Given the description of an element on the screen output the (x, y) to click on. 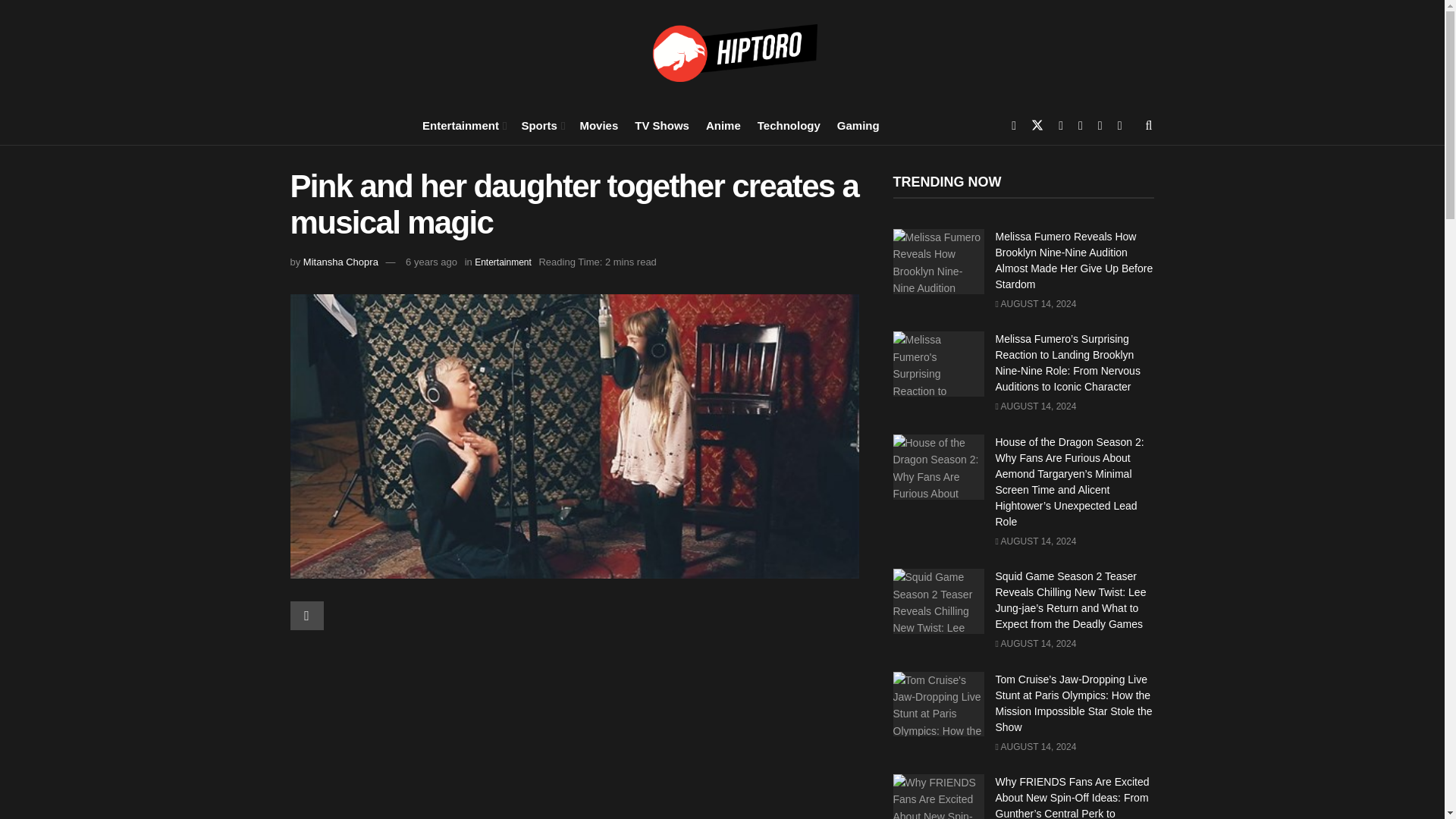
Movies (598, 124)
6 years ago (431, 261)
Entertainment (462, 124)
TV Shows (661, 124)
Gaming (858, 124)
Entertainment (502, 262)
Sports (541, 124)
Technology (789, 124)
Anime (723, 124)
Mitansha Chopra (340, 261)
